Given the description of an element on the screen output the (x, y) to click on. 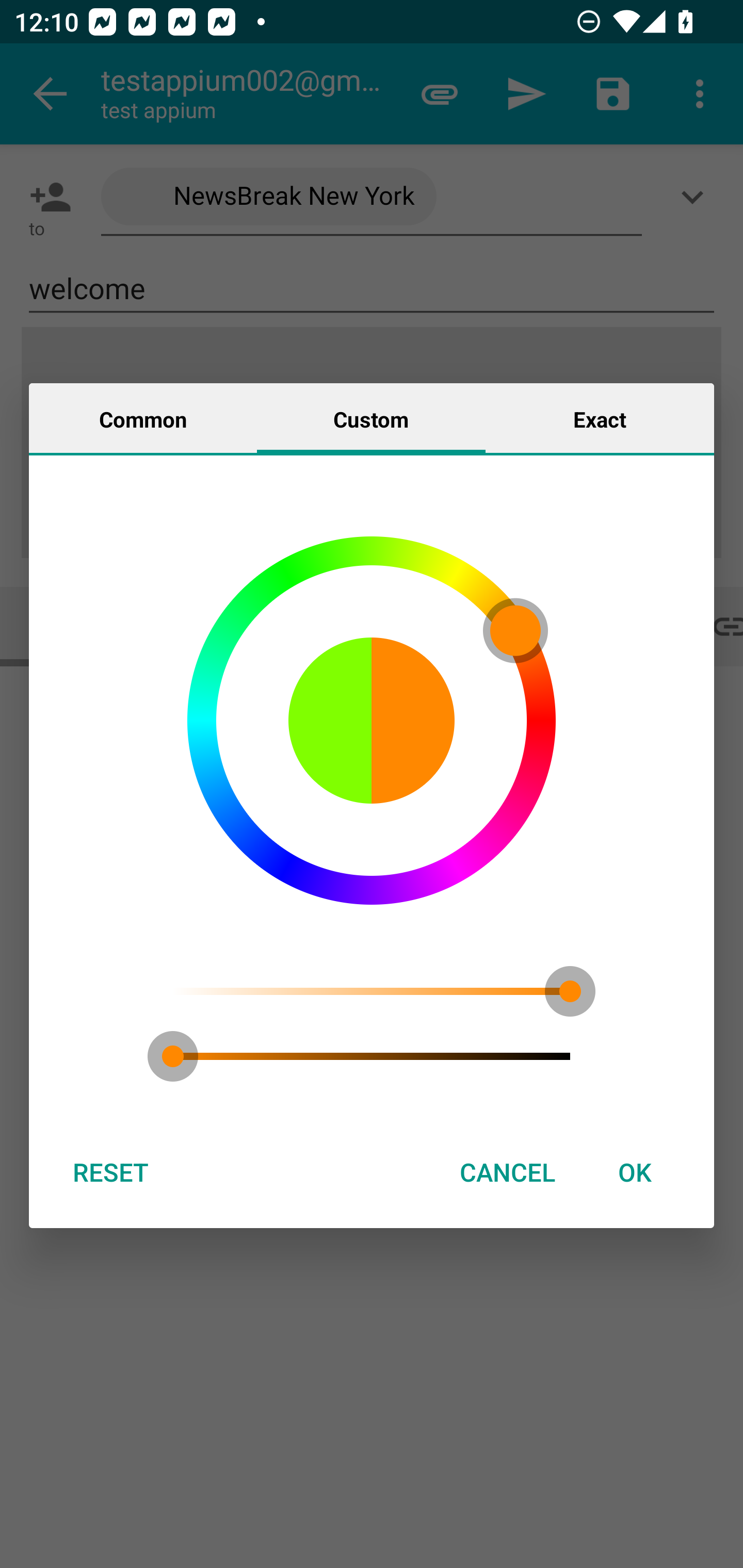
Common (142, 418)
Custom (371, 418)
Exact (599, 418)
RESET (110, 1171)
CANCEL (507, 1171)
OK (634, 1171)
